Given the description of an element on the screen output the (x, y) to click on. 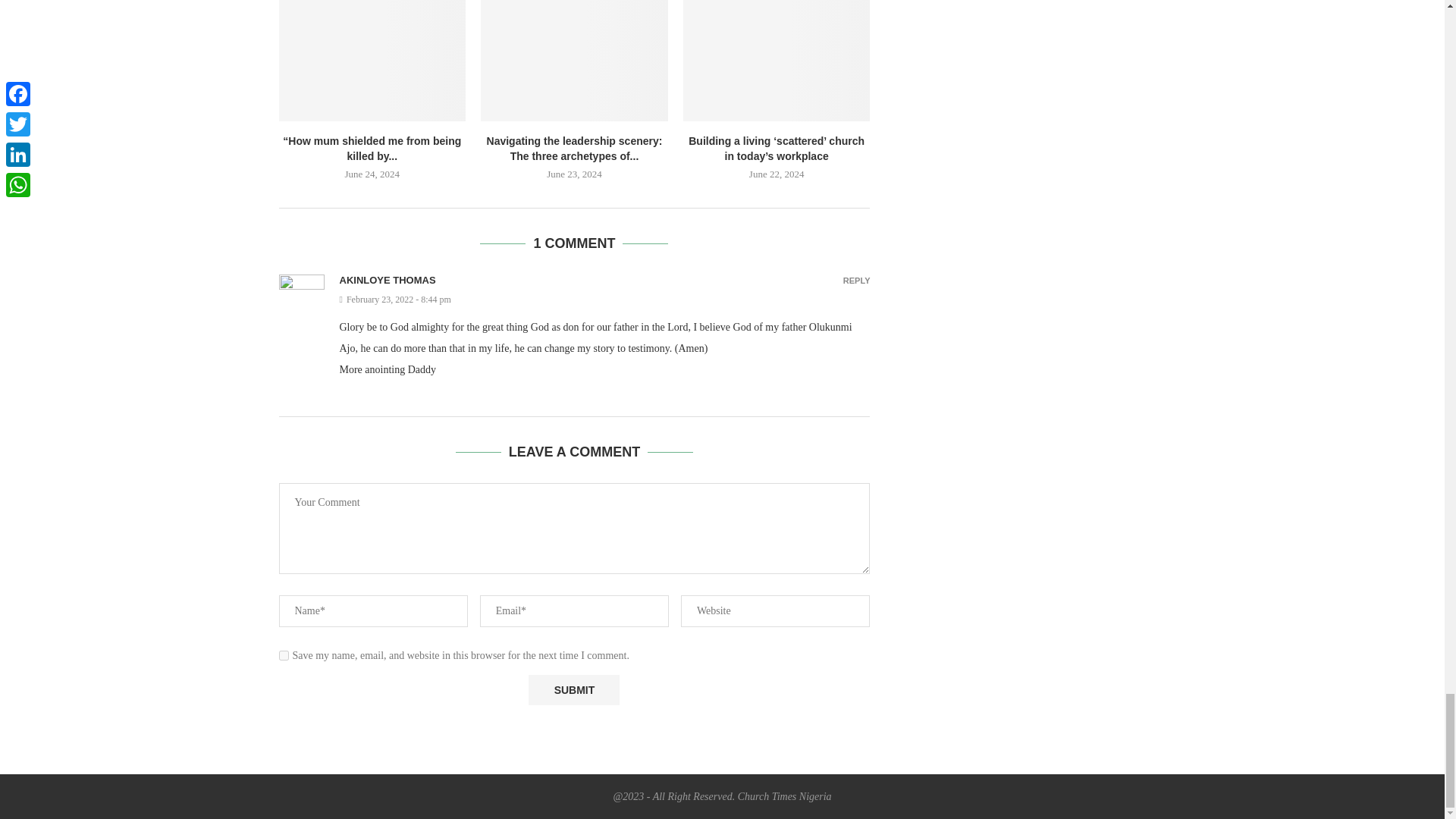
yes (283, 655)
Submit (574, 689)
